Given the description of an element on the screen output the (x, y) to click on. 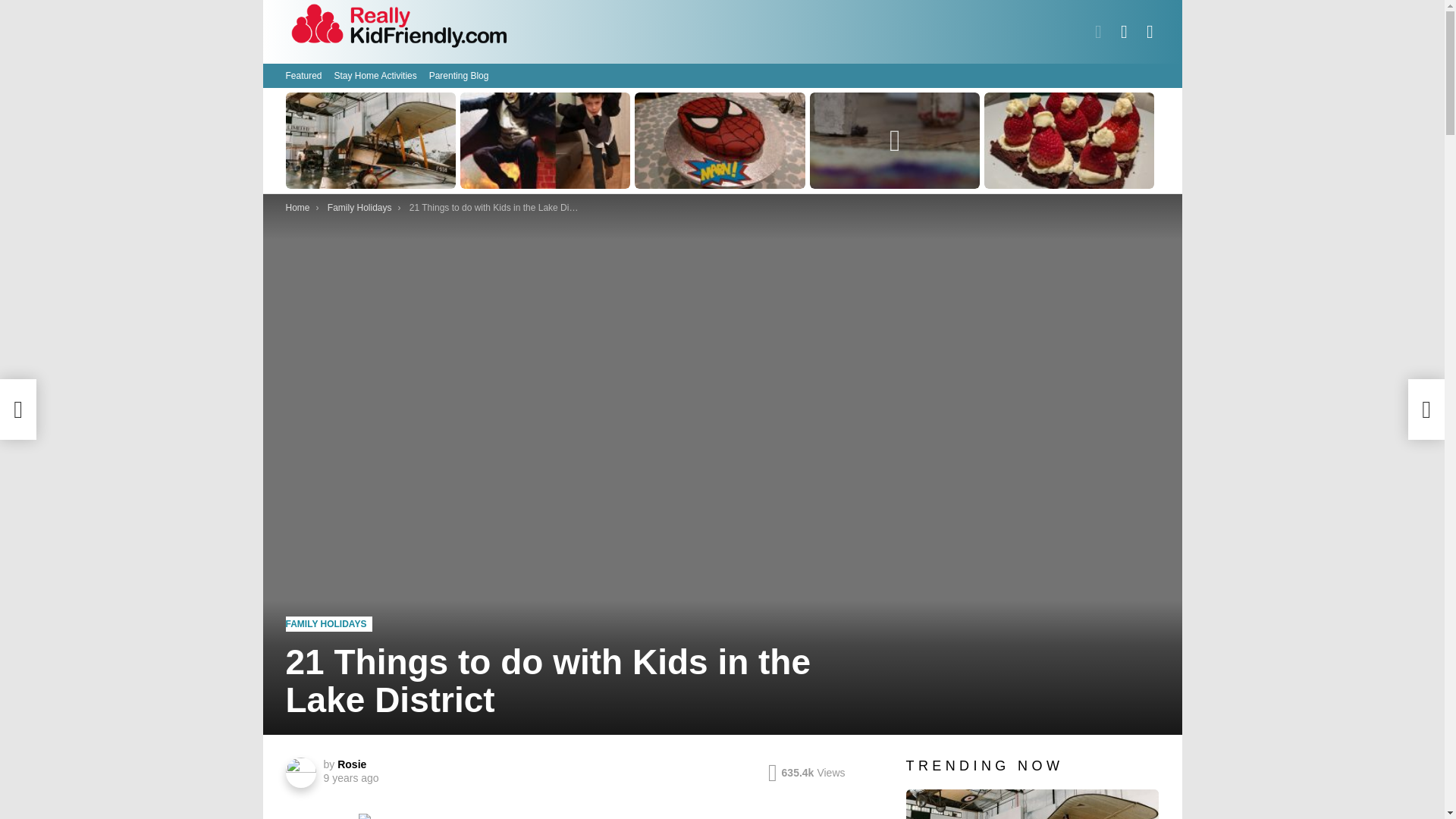
World Book Day: Costume Ideas for Big Kids (545, 140)
Spiderman Cake Idea (719, 140)
Stay Home Activities (374, 75)
FAMILY HOLIDAYS (328, 623)
Home (296, 207)
Parenting Blog (459, 75)
September 13, 2015, 7:06 pm (350, 776)
Cute Christmas Recipe: Brownies with Santa Hats (1069, 140)
MARCEL THE SHELL WITH SHOES ON (894, 140)
Featured (303, 75)
